Given the description of an element on the screen output the (x, y) to click on. 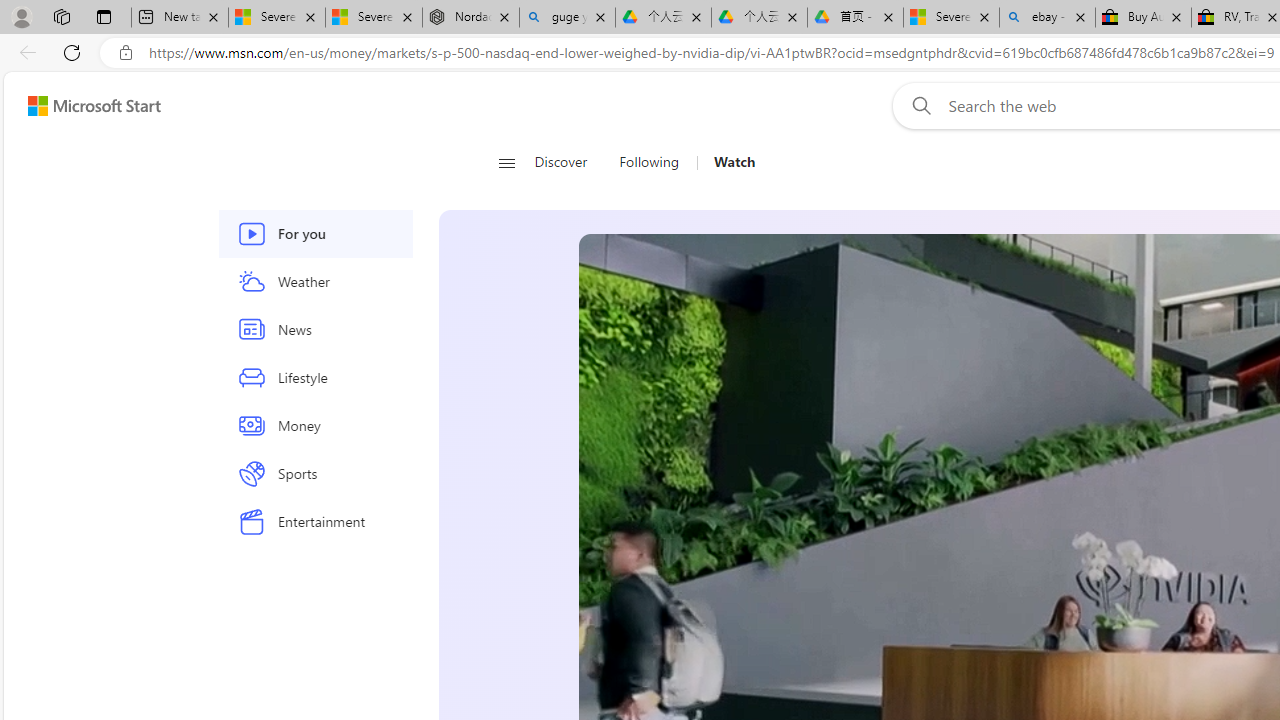
guge yunpan - Search (567, 17)
Class: button-glyph (505, 162)
Buy Auto Parts & Accessories | eBay (1143, 17)
Skip to content (86, 105)
